Given the description of an element on the screen output the (x, y) to click on. 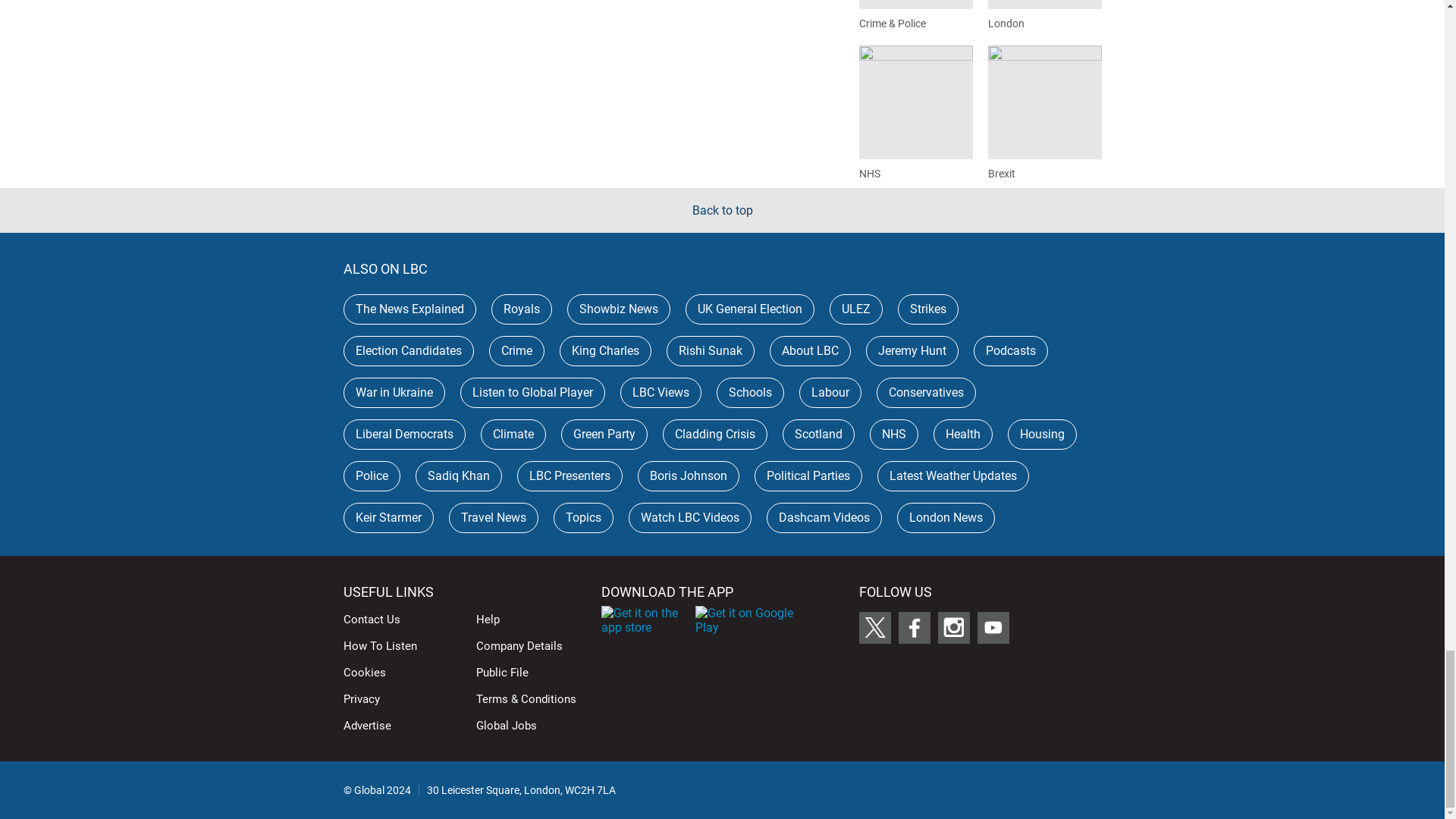
Follow LBC on X (874, 627)
Follow LBC on Facebook (914, 627)
Follow LBC on Instagram (953, 627)
Follow LBC on Youtube (992, 627)
Back to top (721, 210)
